Given the description of an element on the screen output the (x, y) to click on. 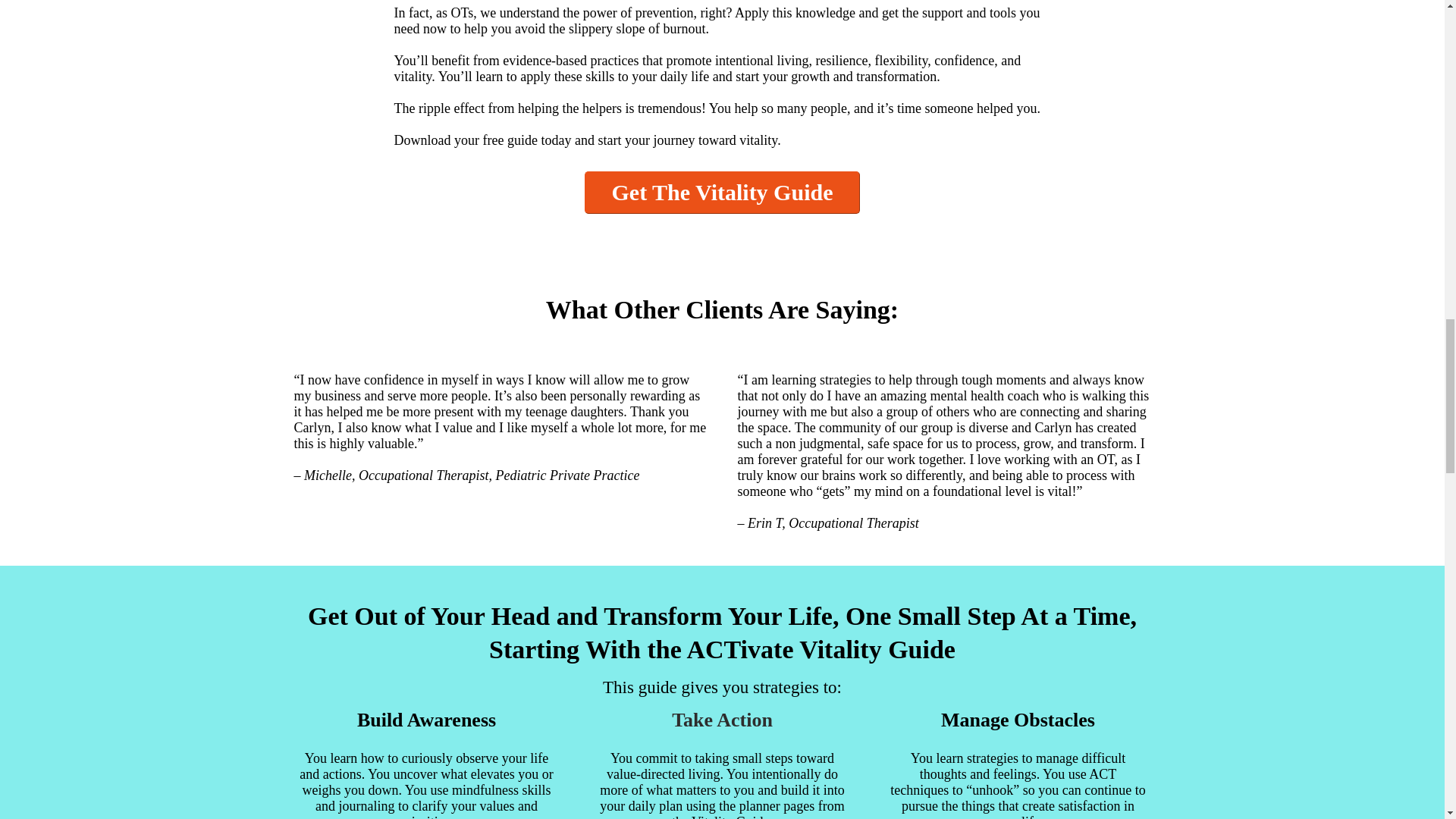
Get The Vitality Guide (722, 192)
